Given the description of an element on the screen output the (x, y) to click on. 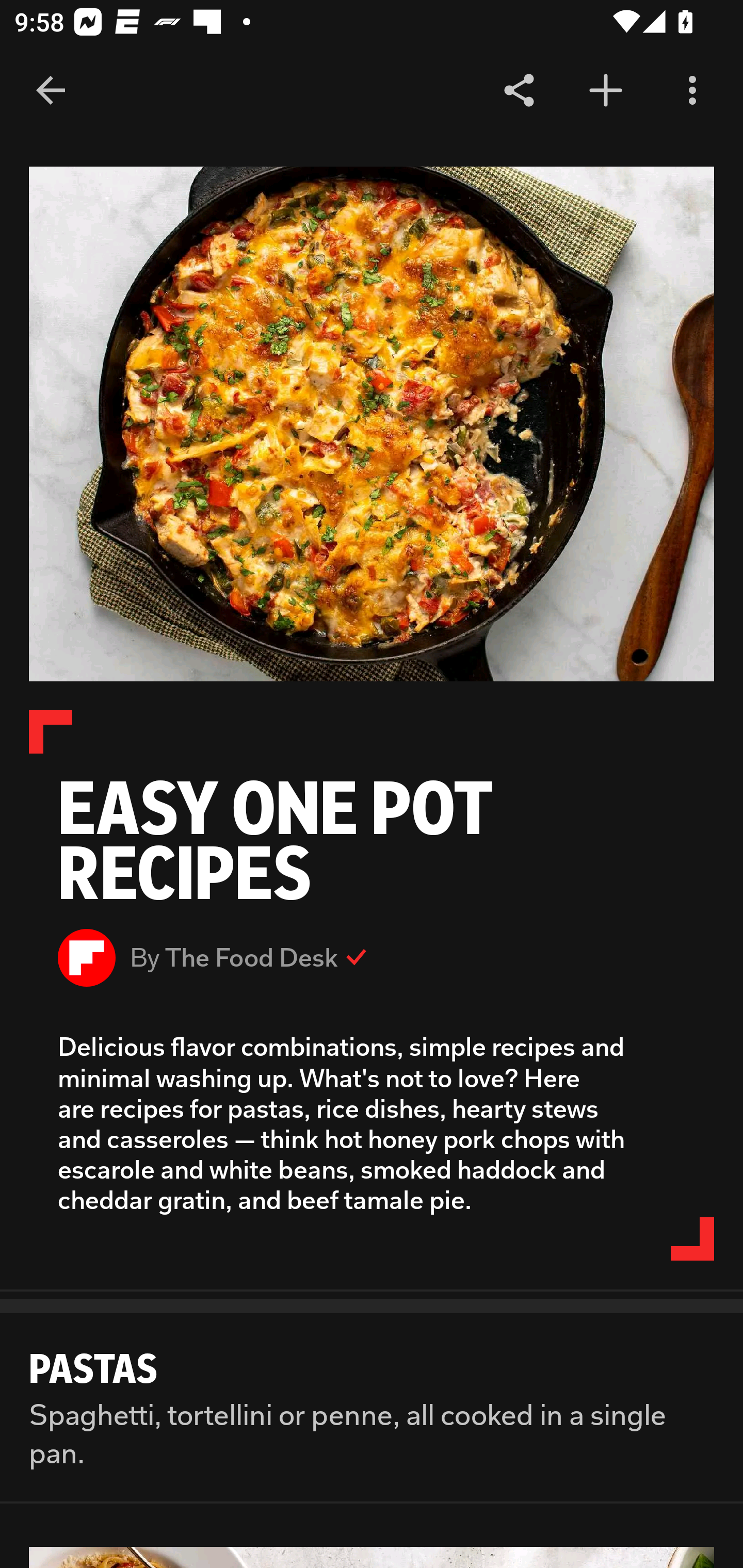
Back (50, 90)
Share (518, 90)
Flip into Magazine (605, 90)
Options (692, 90)
By The Food Desk (371, 957)
